Given the description of an element on the screen output the (x, y) to click on. 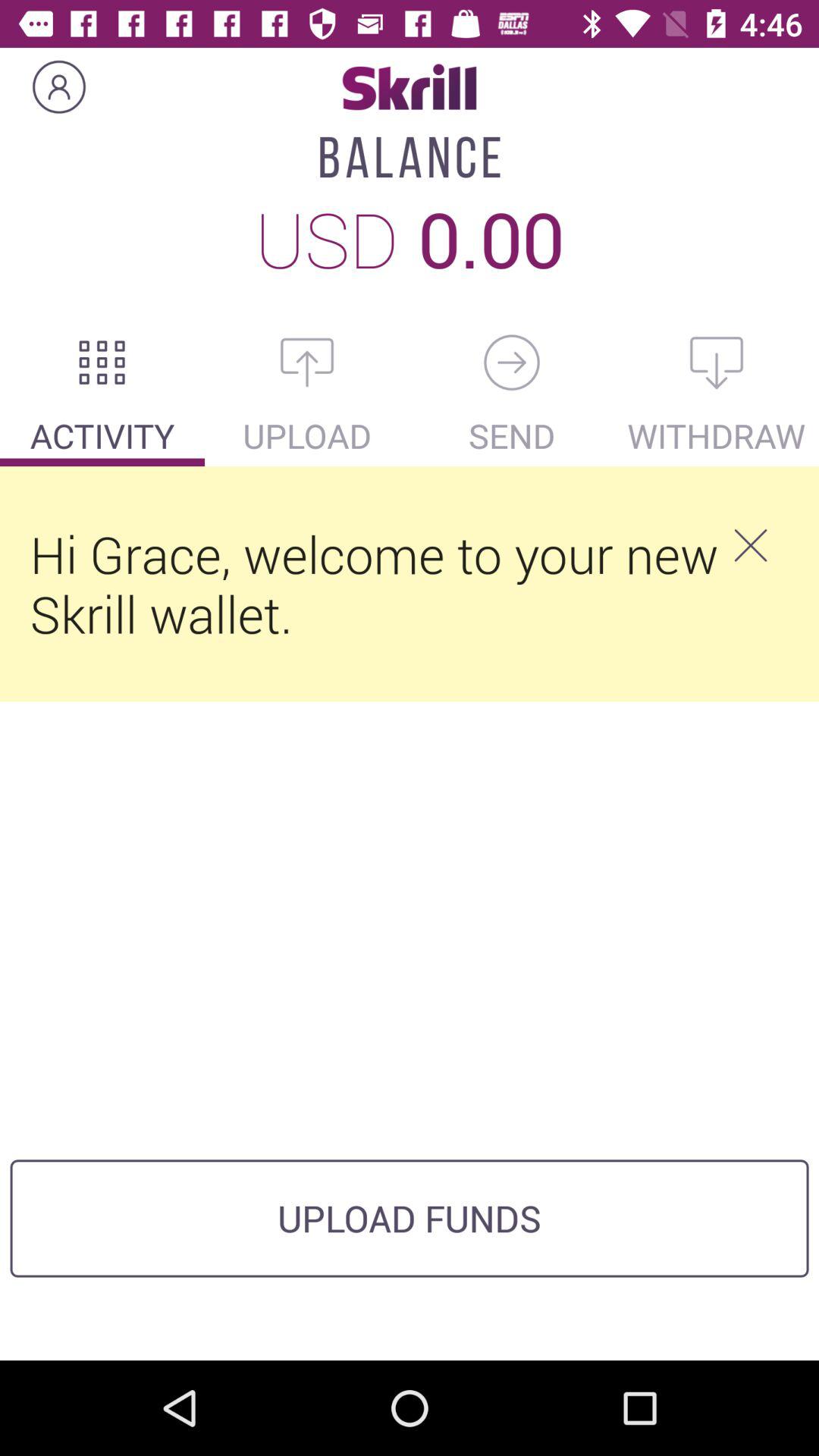
press the item below the withdraw item (750, 545)
